Given the description of an element on the screen output the (x, y) to click on. 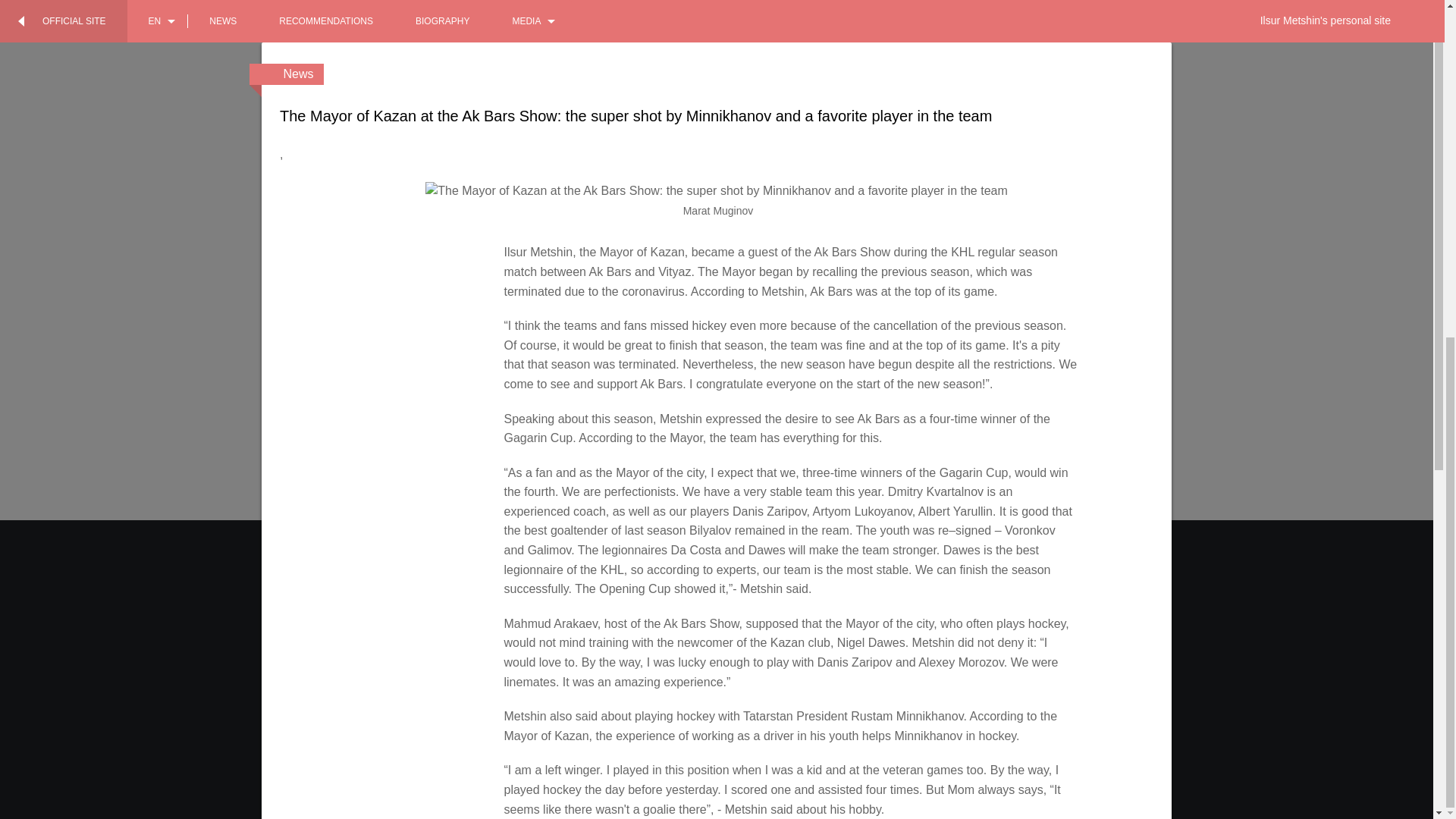
Ilsur Metshin meets with Tatarstan bloggers (608, 245)
